Given the description of an element on the screen output the (x, y) to click on. 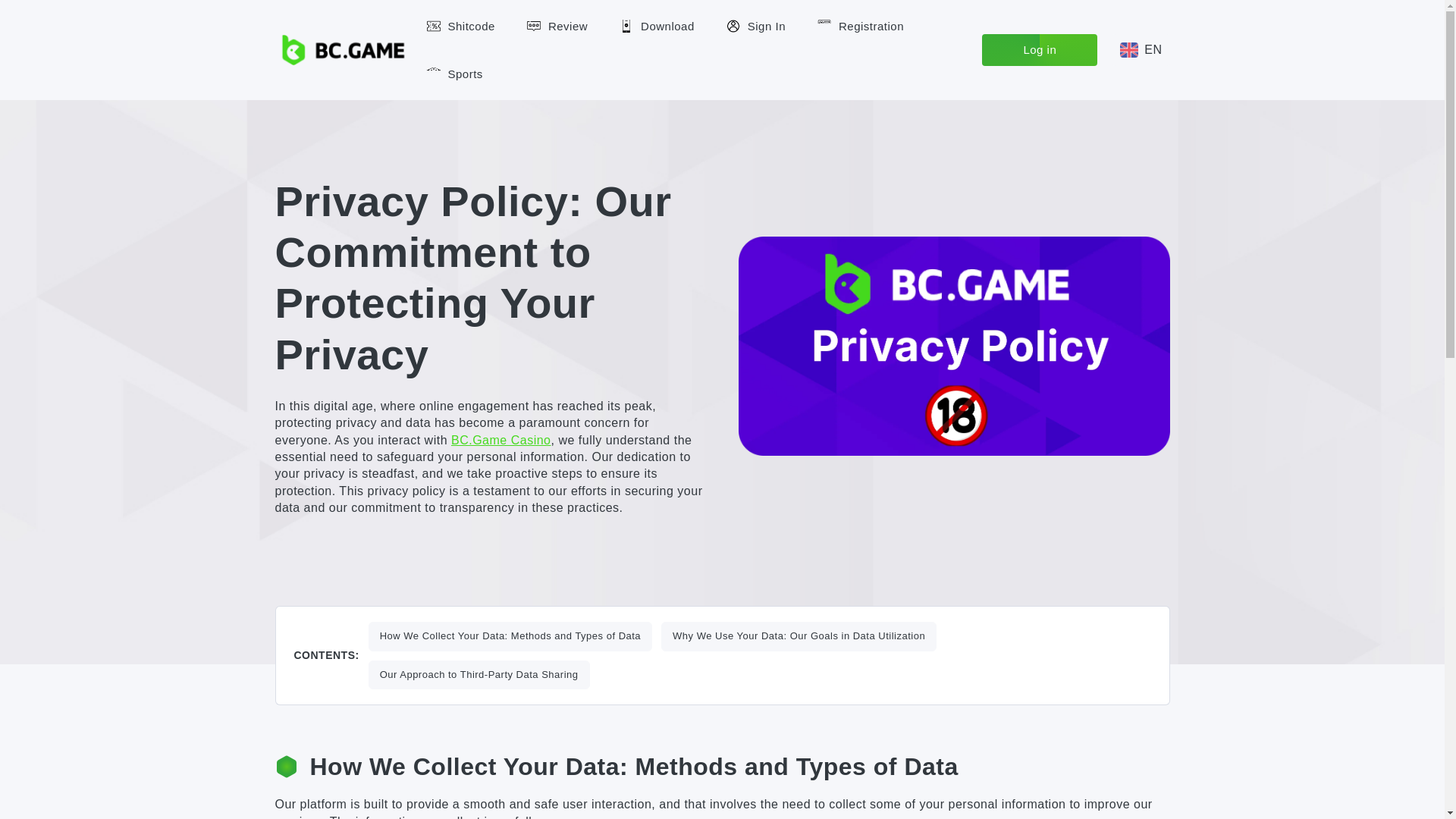
How We Collect Your Data: Methods and Types of Data (510, 635)
Why We Use Your Data: Our Goals in Data Utilization (798, 635)
Shitcode (460, 25)
Sign In (756, 25)
Download (657, 25)
BC.Game Casino (501, 440)
Sports (453, 73)
Registration (860, 25)
Review (557, 25)
Our Approach to Third-Party Data Sharing (478, 674)
